Given the description of an element on the screen output the (x, y) to click on. 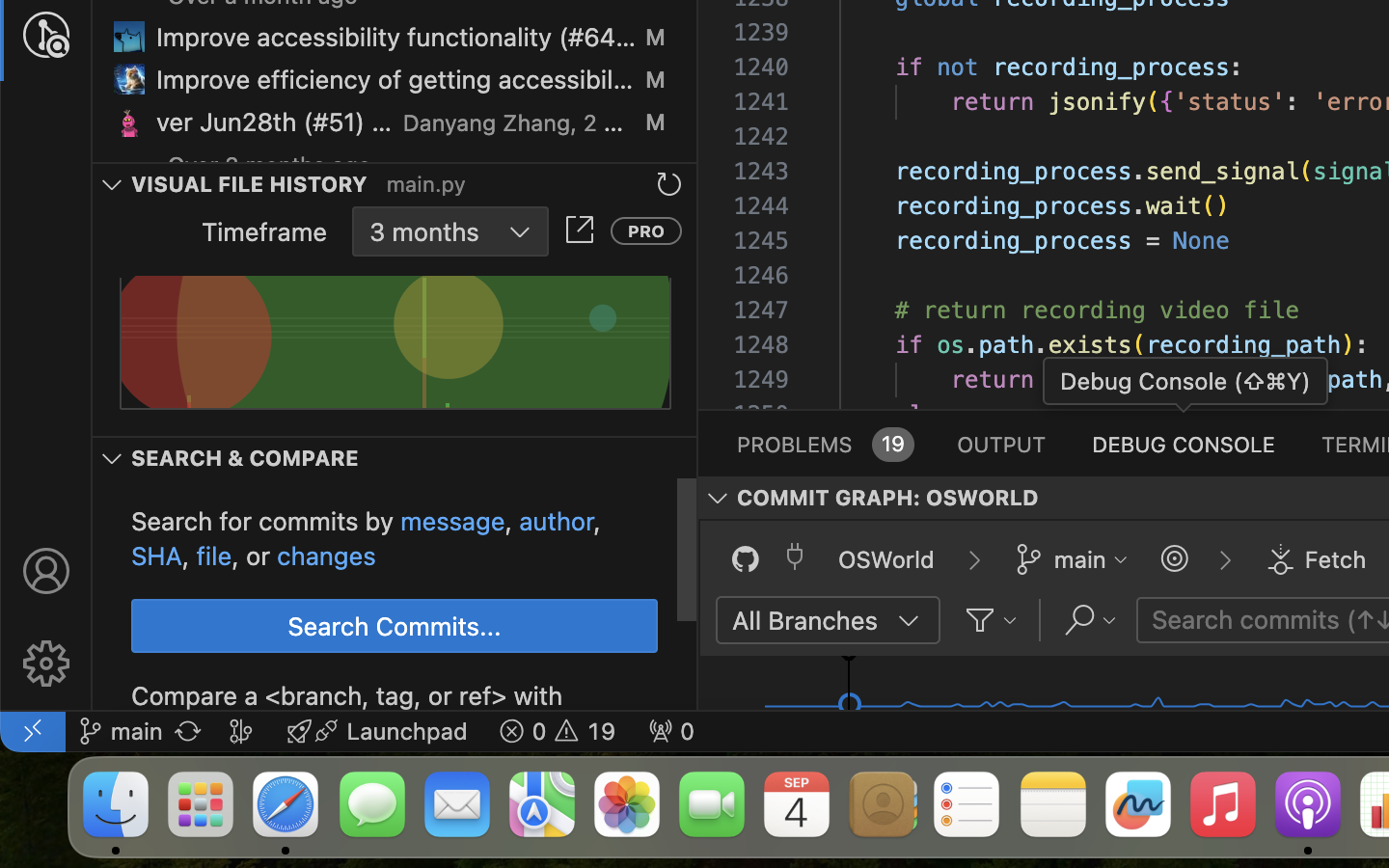
Timeframe Element type: AXStaticText (264, 231)
3 months Element type: AXStaticText (424, 231)
COMMIT GRAPH: OSWORLD Element type: AXStaticText (887, 498)
3 months Element type: AXComboBox (450, 231)
main  Element type: AXButton (120, 730)
